Given the description of an element on the screen output the (x, y) to click on. 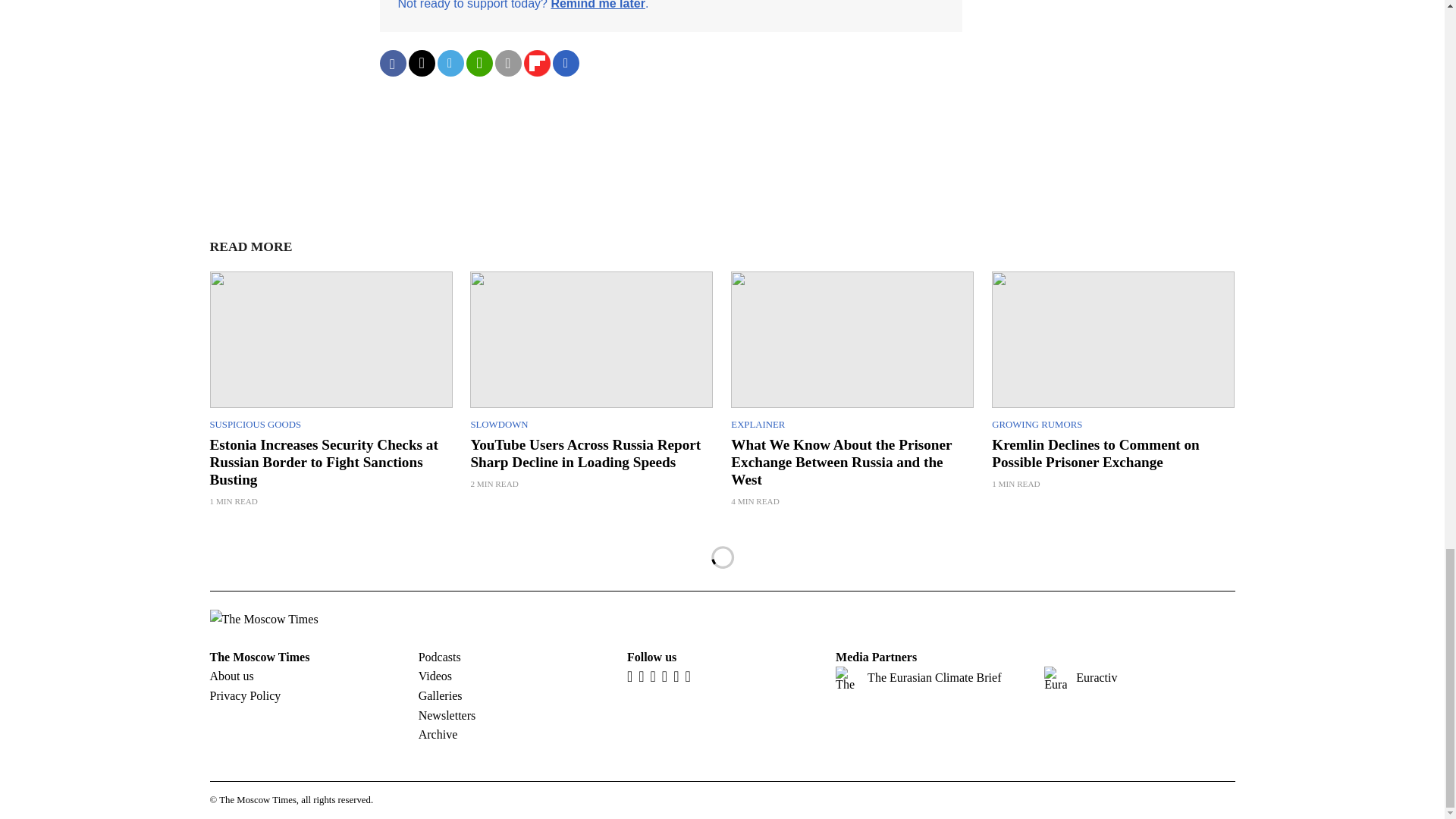
Share on Flipboard (536, 62)
Share on Facebook (392, 62)
Share on Twitter (420, 62)
Share on Telegram (449, 62)
